Given the description of an element on the screen output the (x, y) to click on. 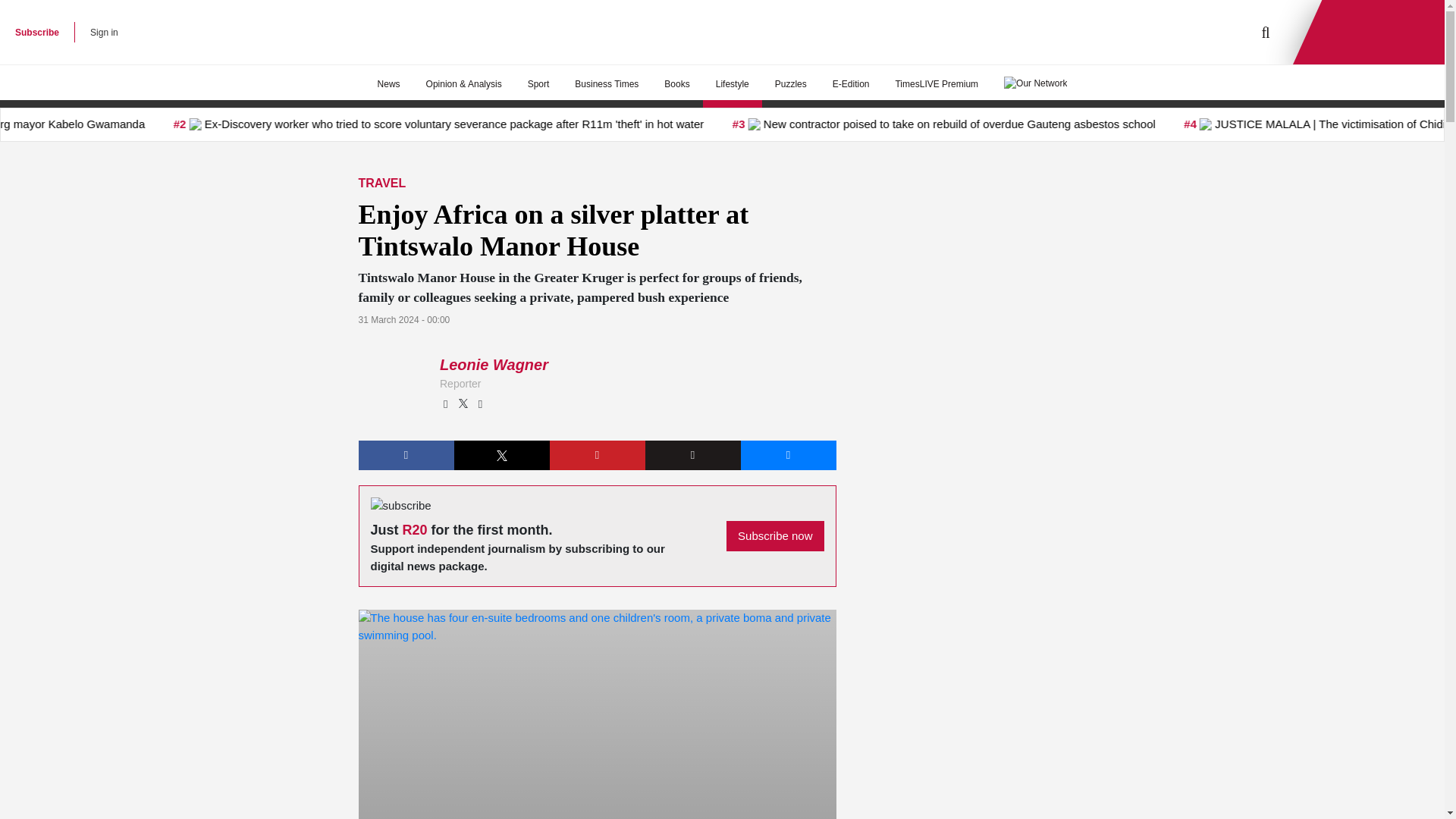
TimesLIVE Premium (936, 84)
Books (675, 84)
Subscribe (36, 32)
Our Network (1035, 82)
News (389, 84)
Sport (538, 84)
Sign in (103, 32)
Business Times (606, 84)
Lifestyle (732, 84)
E-Edition (850, 84)
